Given the description of an element on the screen output the (x, y) to click on. 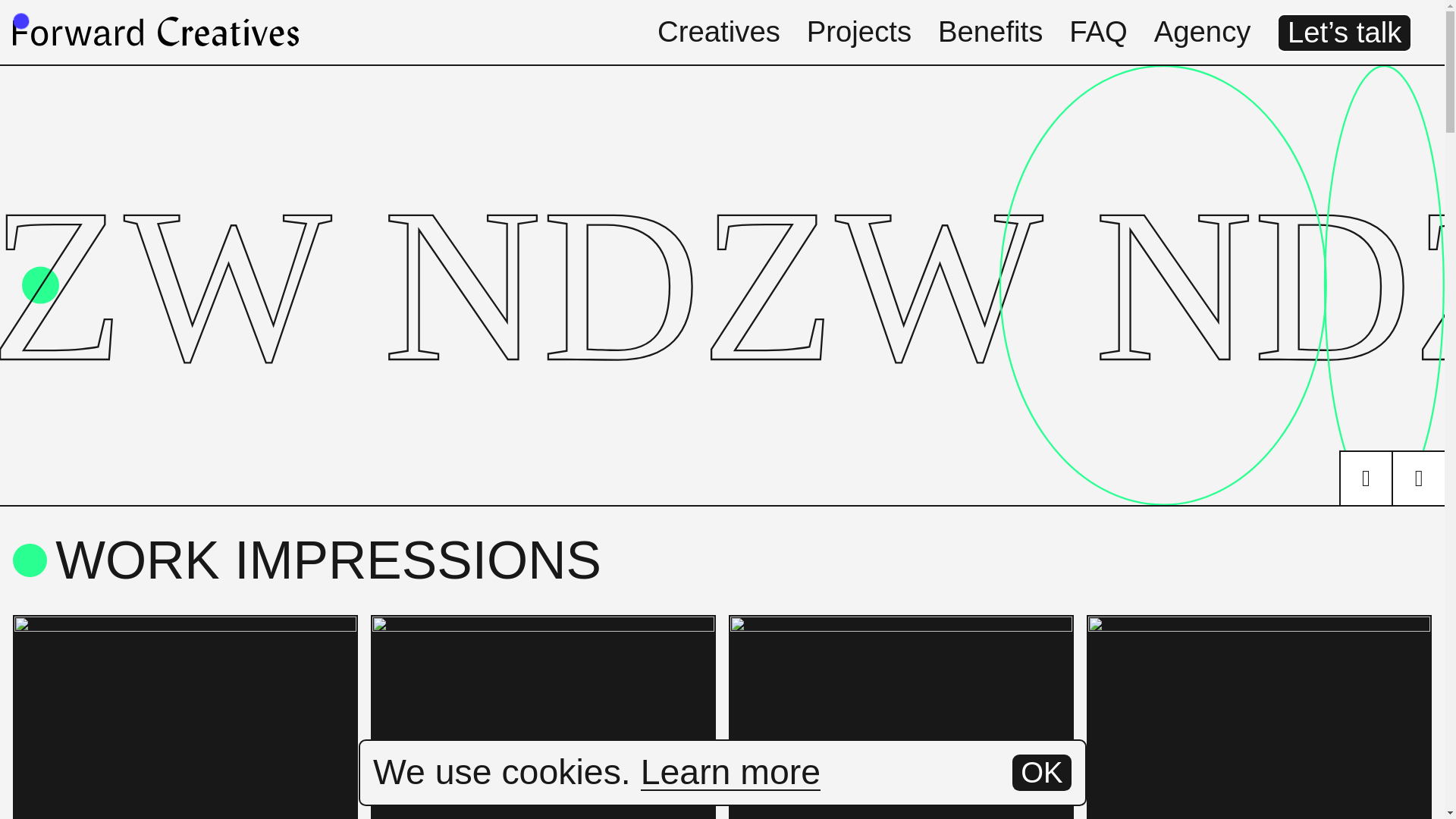
Agency (1202, 31)
FAQ (1097, 31)
Creatives (719, 31)
Projects (858, 31)
Benefits (989, 31)
Learn more (730, 772)
